Given the description of an element on the screen output the (x, y) to click on. 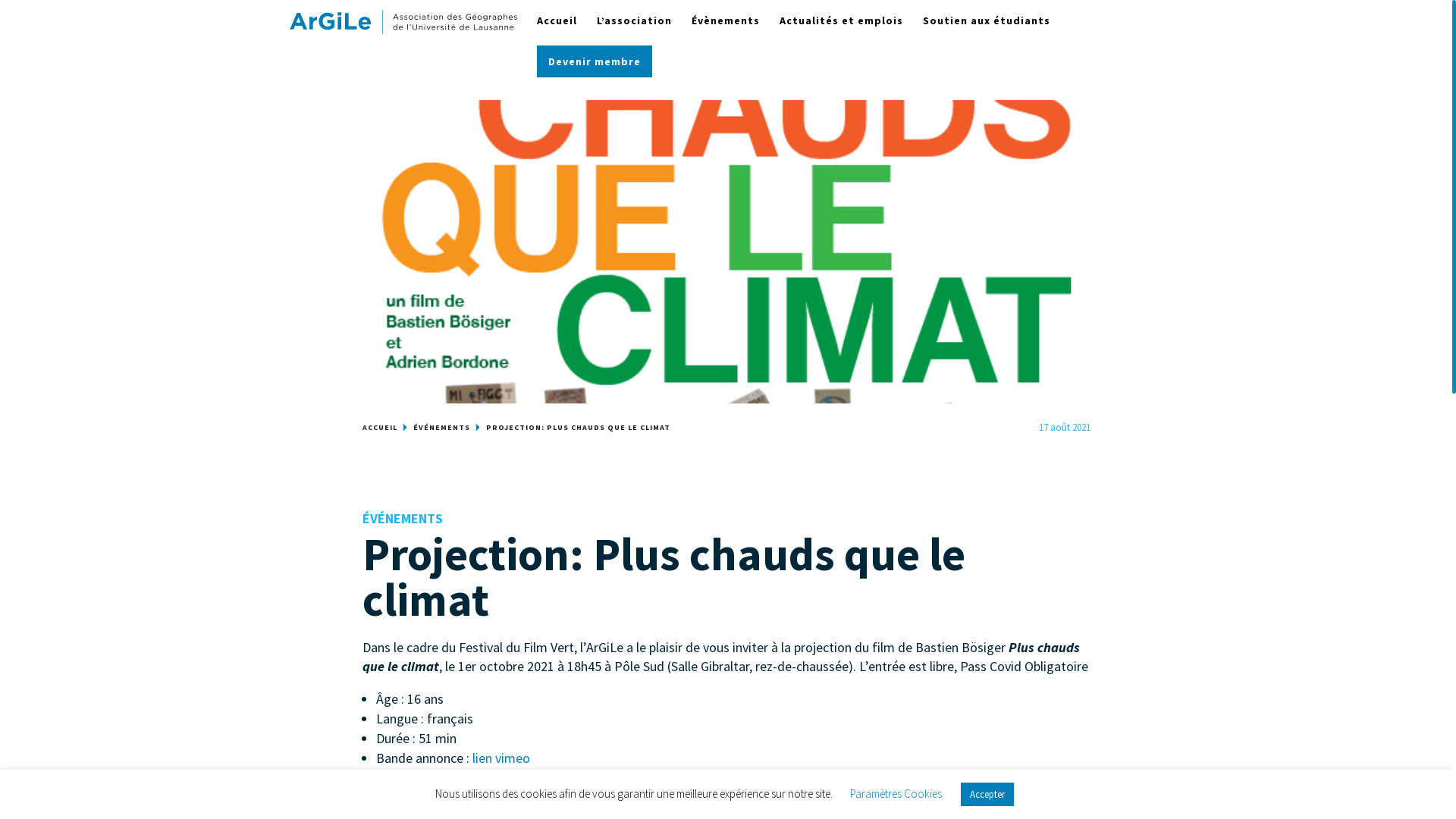
Accepter Element type: text (986, 794)
ACCUEIL Element type: text (379, 427)
Devenir membre Element type: text (593, 76)
Accueil Element type: text (556, 35)
lien vimeo Element type: text (500, 757)
